Given the description of an element on the screen output the (x, y) to click on. 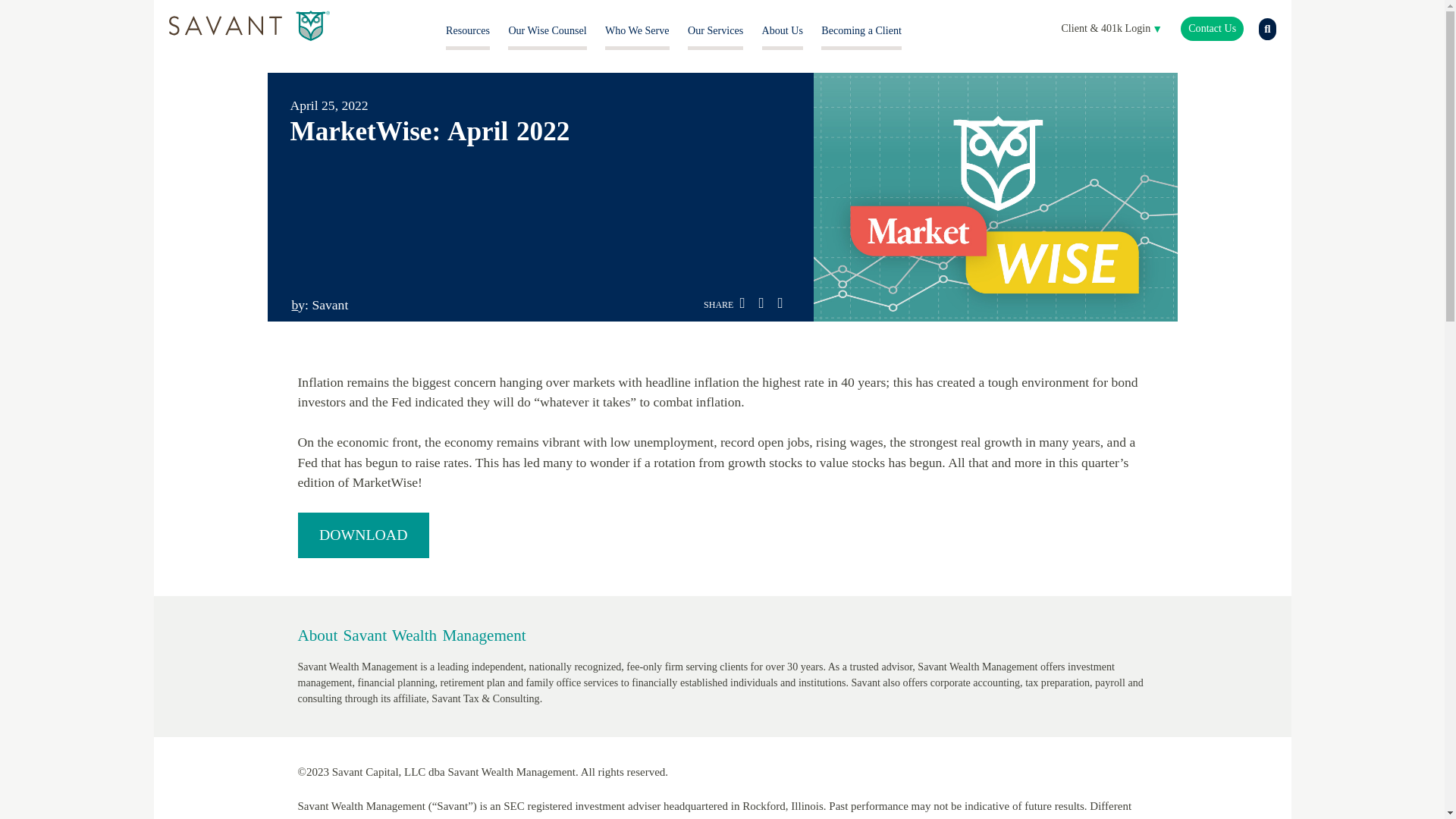
Our Wise Counsel (547, 30)
Our Services (714, 30)
Who We Serve (637, 30)
About Us (782, 30)
Resources (467, 30)
